Given the description of an element on the screen output the (x, y) to click on. 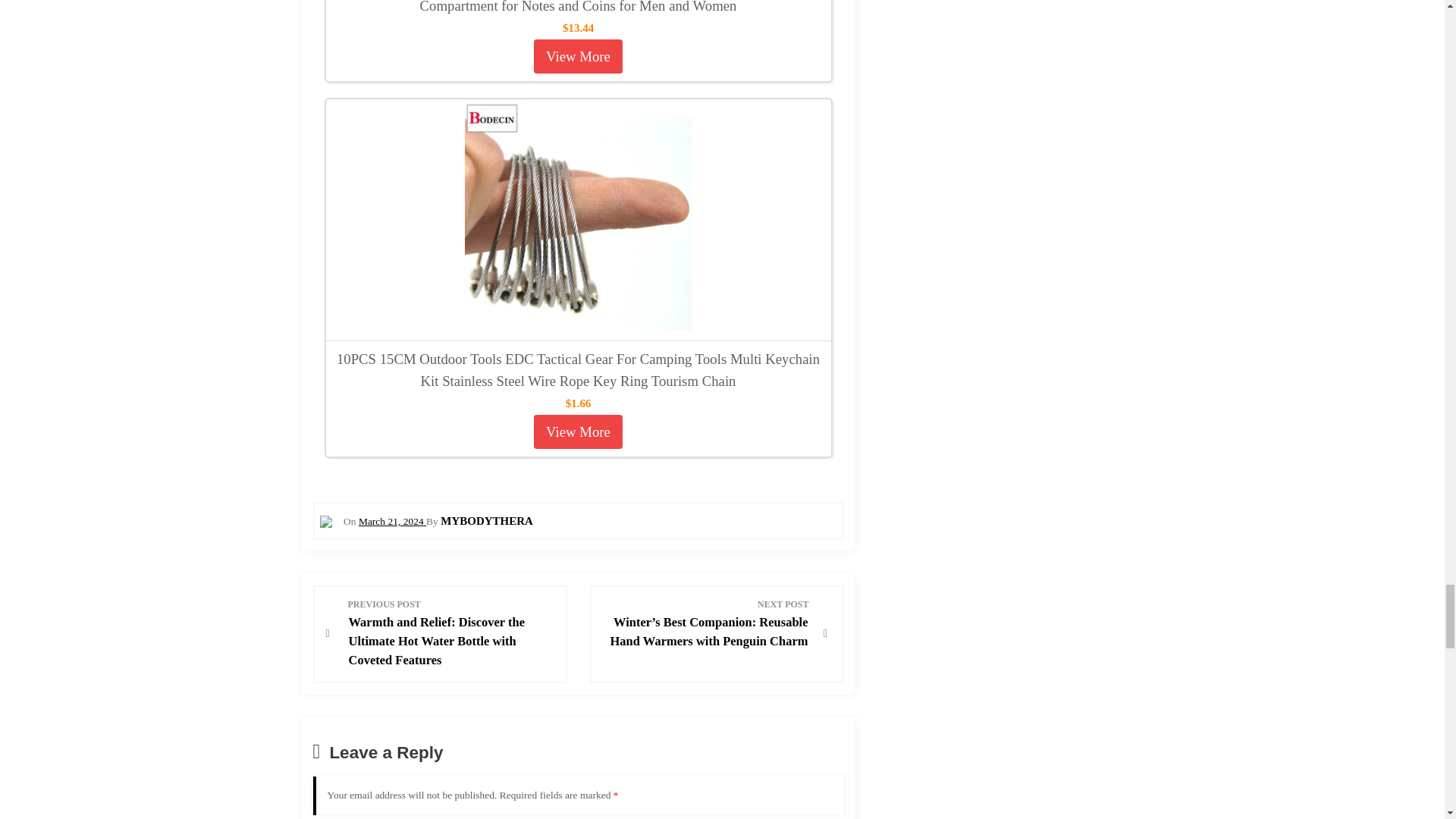
View More (578, 56)
March 21, 2024 (392, 521)
View More (578, 431)
